Given the description of an element on the screen output the (x, y) to click on. 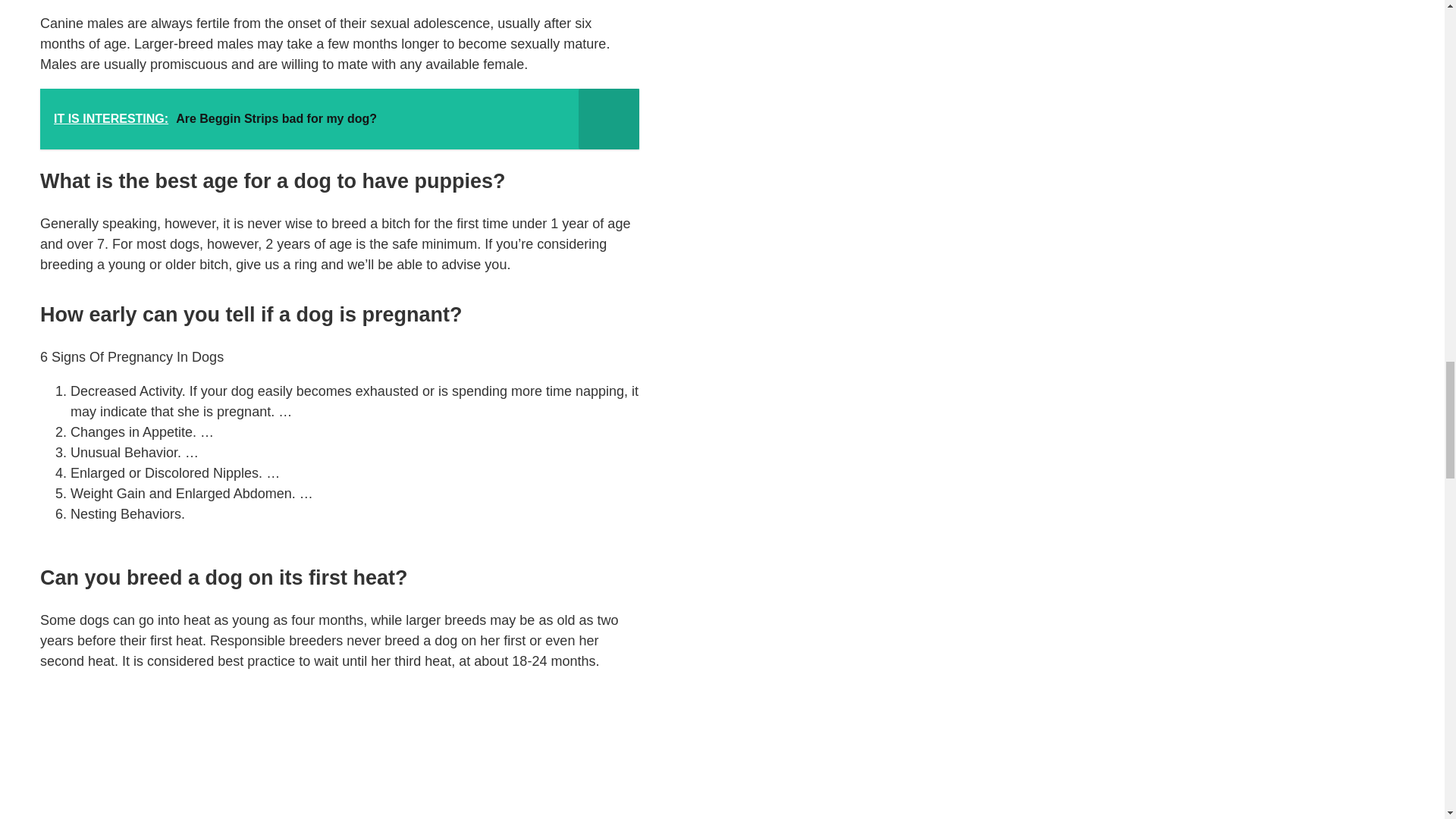
IT IS INTERESTING:  Are Beggin Strips bad for my dog? (339, 118)
